Given the description of an element on the screen output the (x, y) to click on. 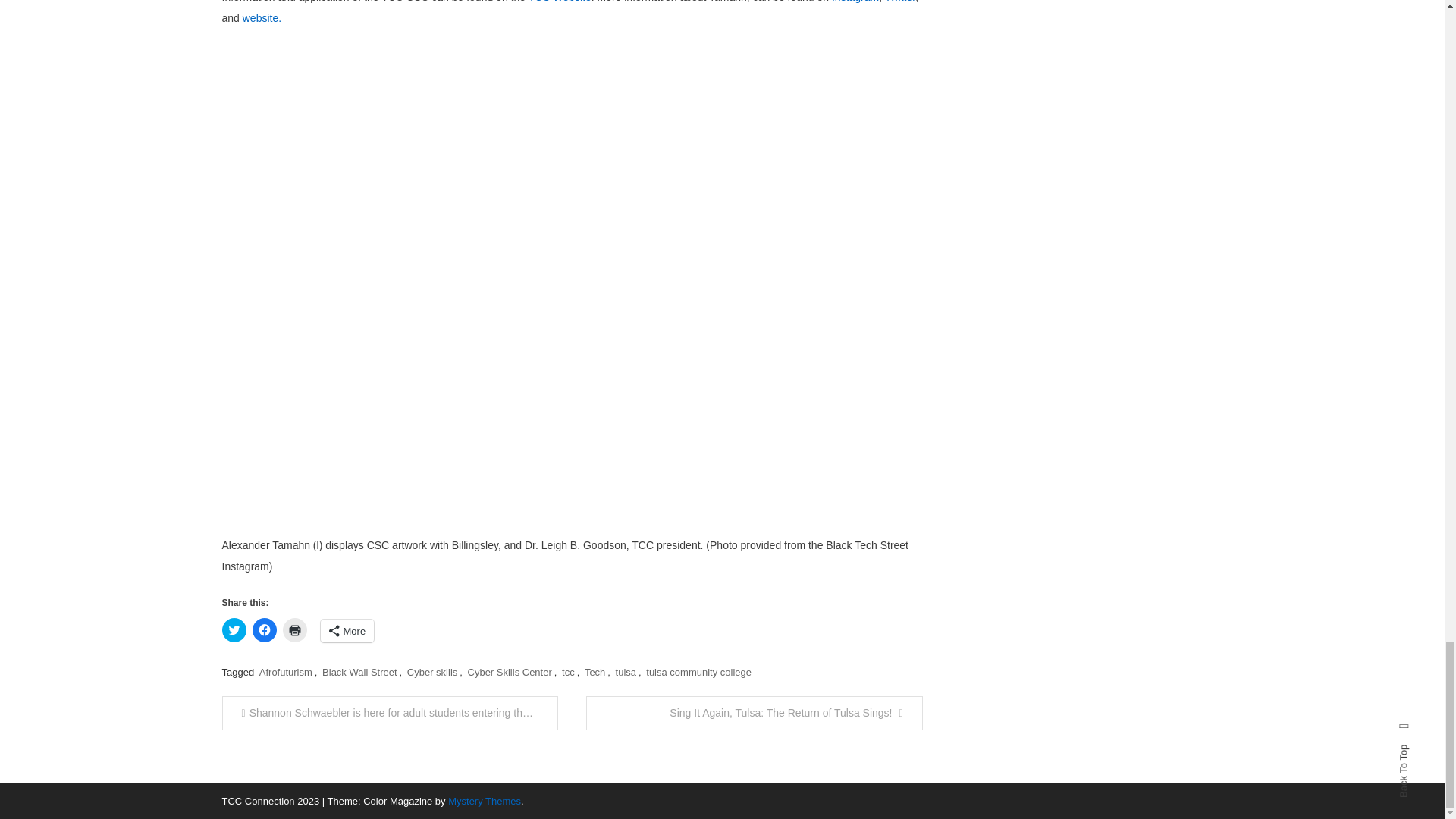
Click to print (293, 630)
Click to share on Twitter (233, 630)
Click to share on Facebook (263, 630)
